Given the description of an element on the screen output the (x, y) to click on. 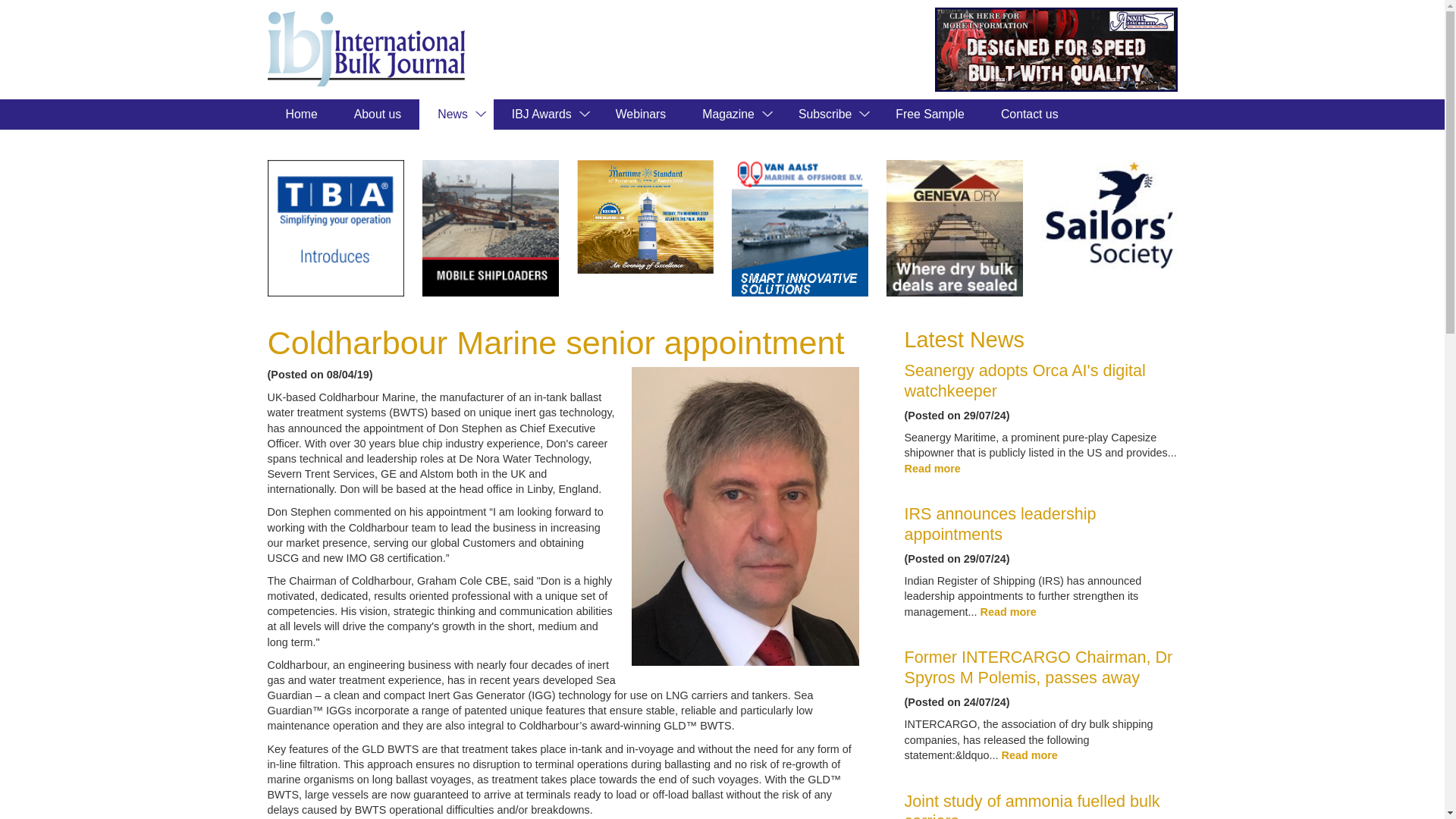
IBJ Awards (544, 114)
About us (377, 114)
News (456, 114)
Home (300, 114)
